Given the description of an element on the screen output the (x, y) to click on. 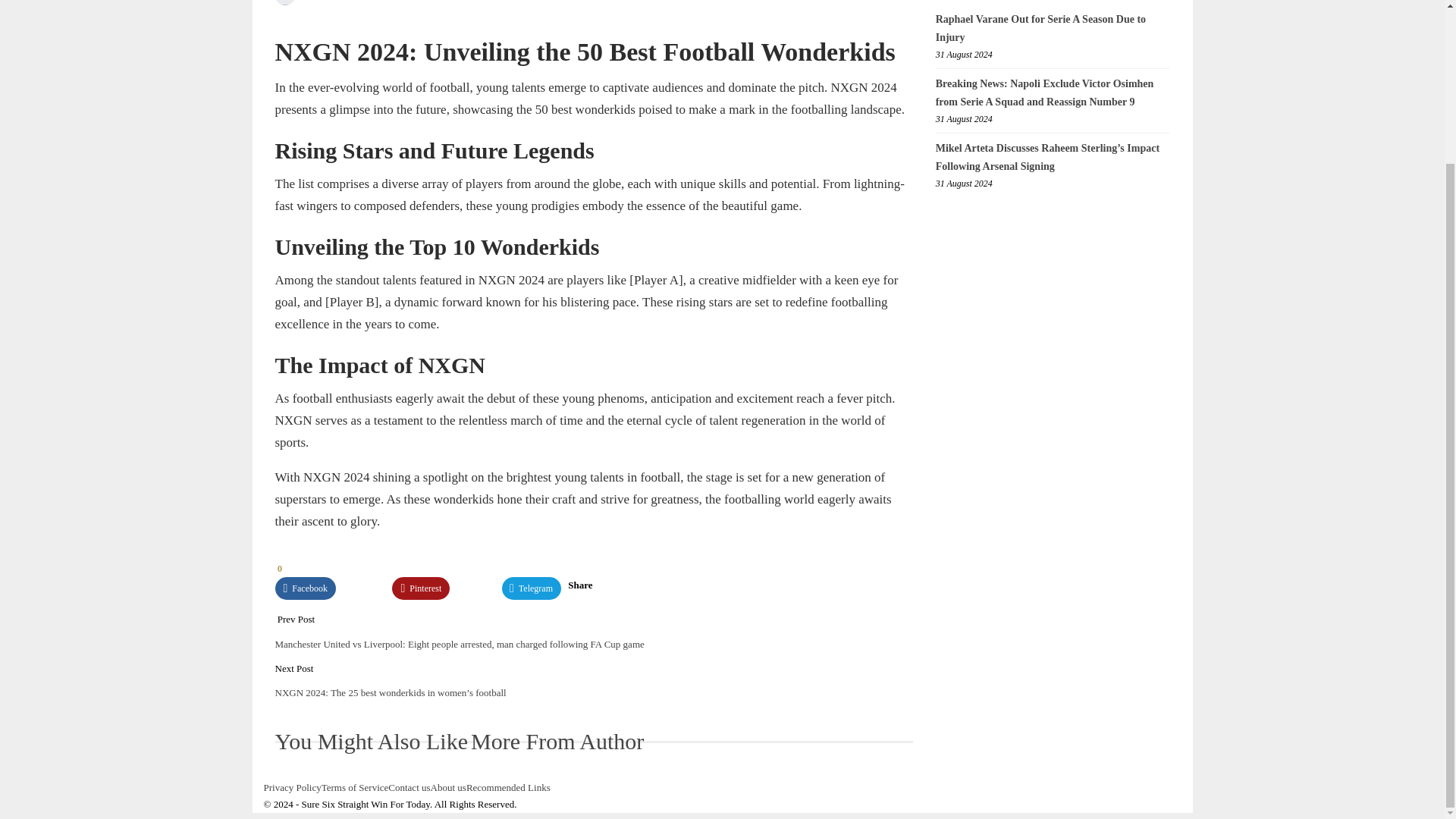
You Might Also Like (372, 744)
Browse Author Articles (303, 2)
By Wealth (303, 2)
More From Author (556, 744)
Pinterest (420, 588)
Raphael Varane Out for Serie A Season Due to Injury (1040, 28)
Email (475, 588)
Telegram (531, 588)
Facebook (305, 588)
